Given the description of an element on the screen output the (x, y) to click on. 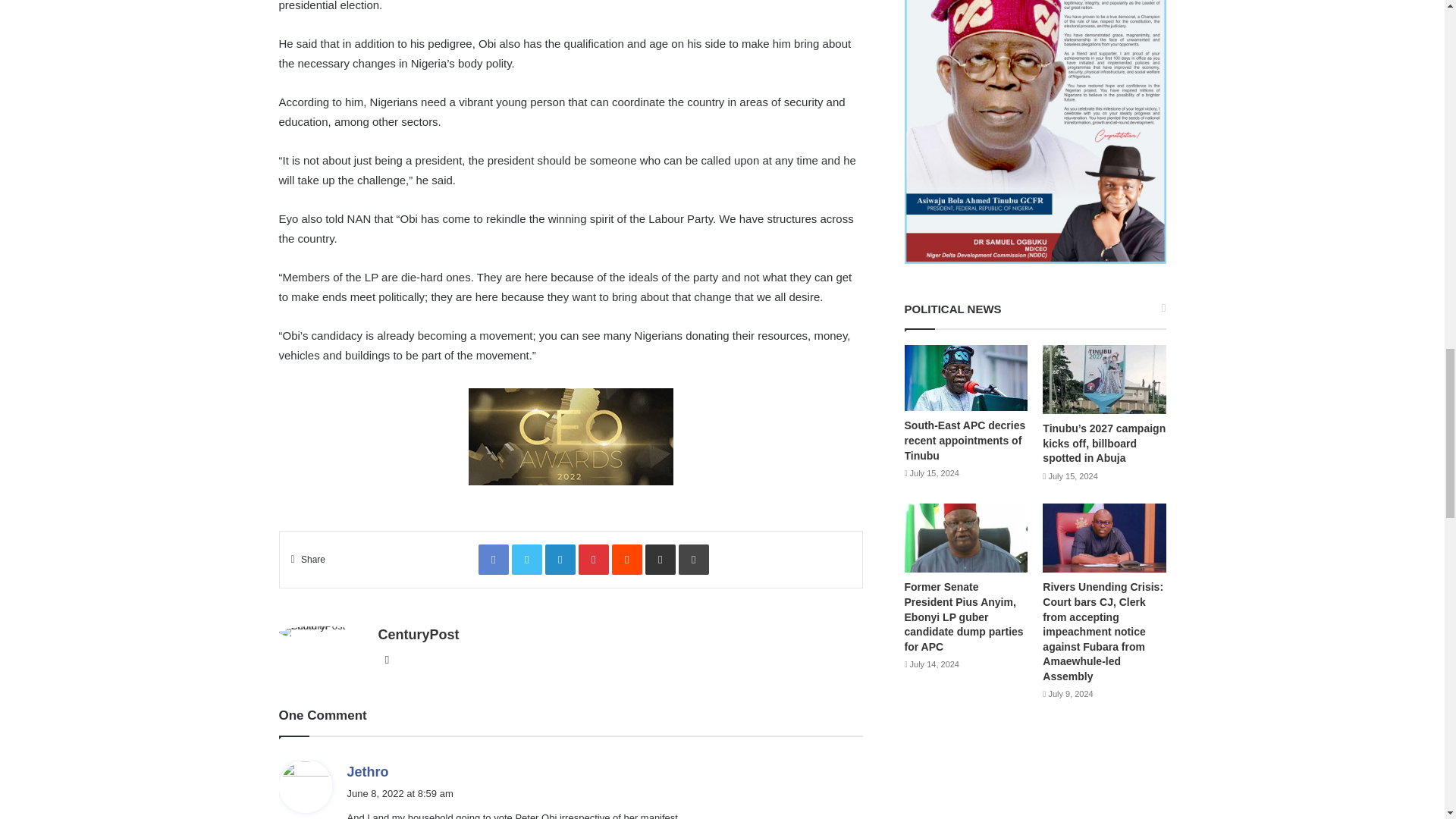
LinkedIn (559, 559)
Twitter (526, 559)
Pinterest (593, 559)
Facebook (493, 559)
Reddit (626, 559)
